Given the description of an element on the screen output the (x, y) to click on. 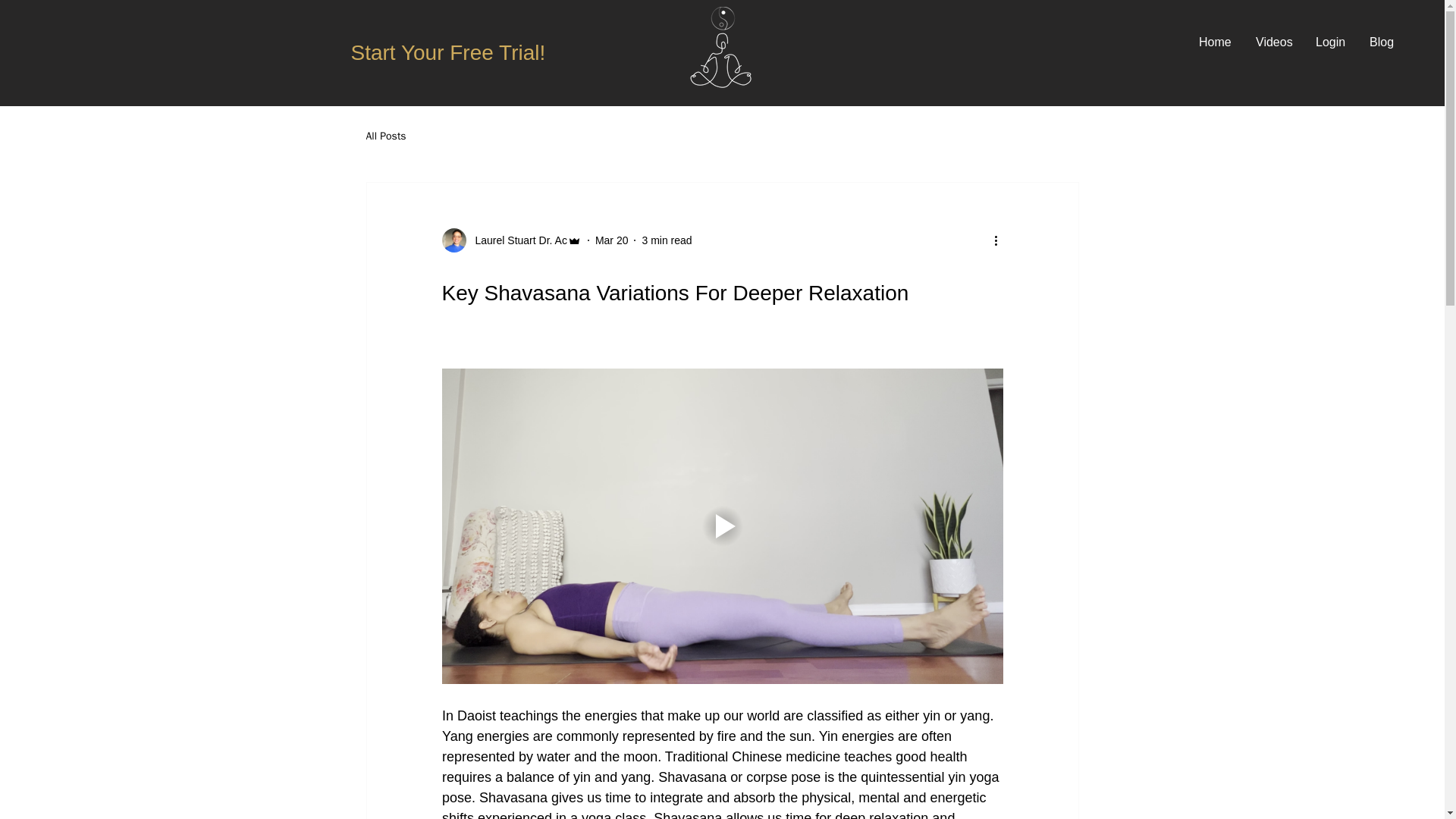
3 min read (666, 239)
Login (1331, 42)
White on Transparent.png (725, 47)
Laurel Stuart Dr. Ac (515, 239)
Blog (1382, 42)
Videos (1274, 42)
Mar 20 (611, 239)
All Posts (385, 136)
Start Your Free Trial! (447, 52)
Laurel Stuart Dr. Ac (510, 240)
